Given the description of an element on the screen output the (x, y) to click on. 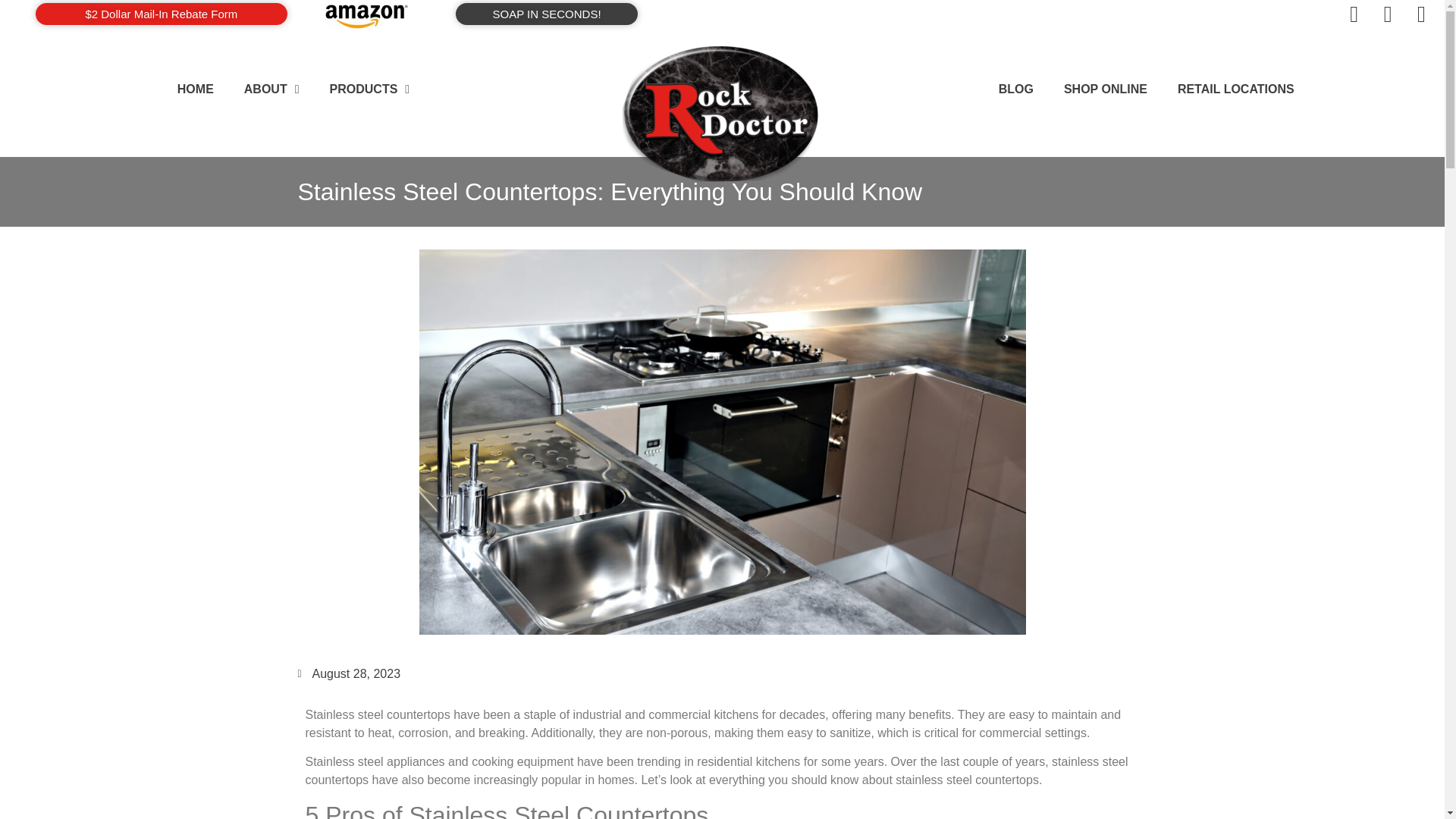
HOME (194, 89)
PRODUCTS (369, 89)
SOAP IN SECONDS! (546, 14)
ABOUT (271, 89)
